Given the description of an element on the screen output the (x, y) to click on. 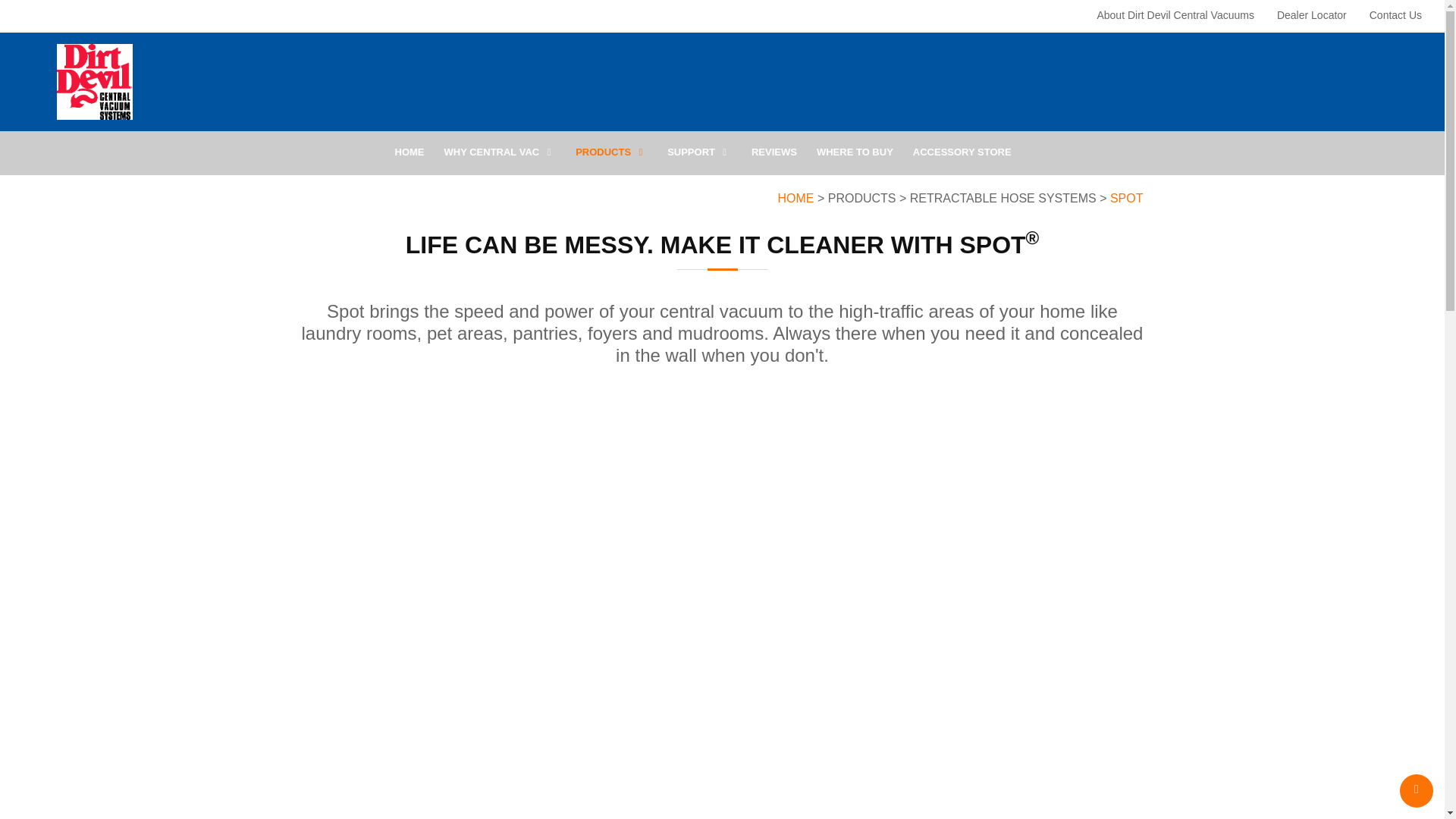
WHY CENTRAL VAC (500, 155)
HOME (408, 155)
Contact Us (1396, 15)
PRODUCTS (611, 155)
SUPPORT (699, 155)
Dealer Locator (1311, 15)
About Dirt Devil Central Vacuums (1174, 15)
